Given the description of an element on the screen output the (x, y) to click on. 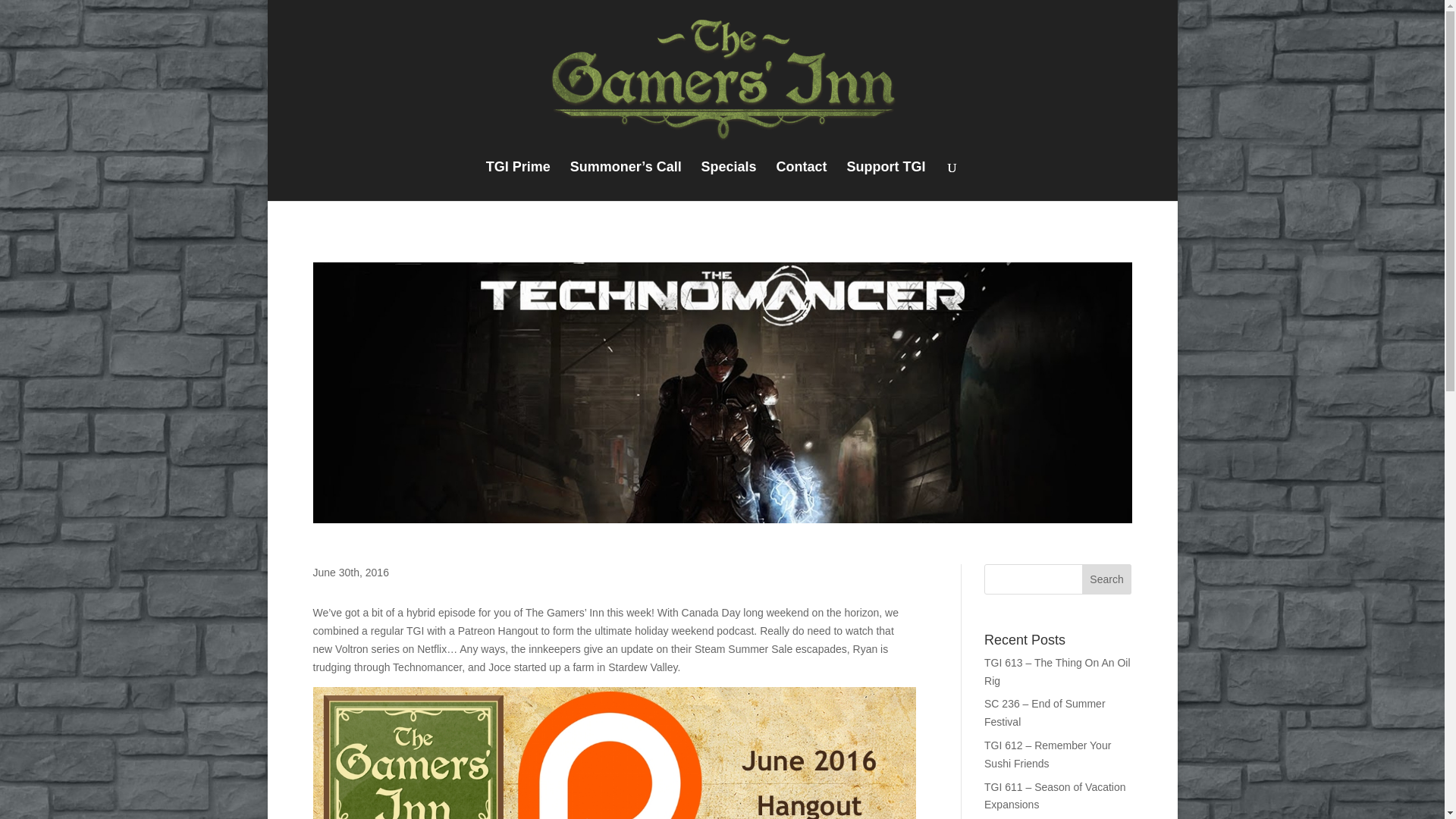
Search (1106, 579)
TGI Prime (518, 180)
Contact (801, 180)
Search (1106, 579)
Support TGI (884, 180)
Specials (729, 180)
